Given the description of an element on the screen output the (x, y) to click on. 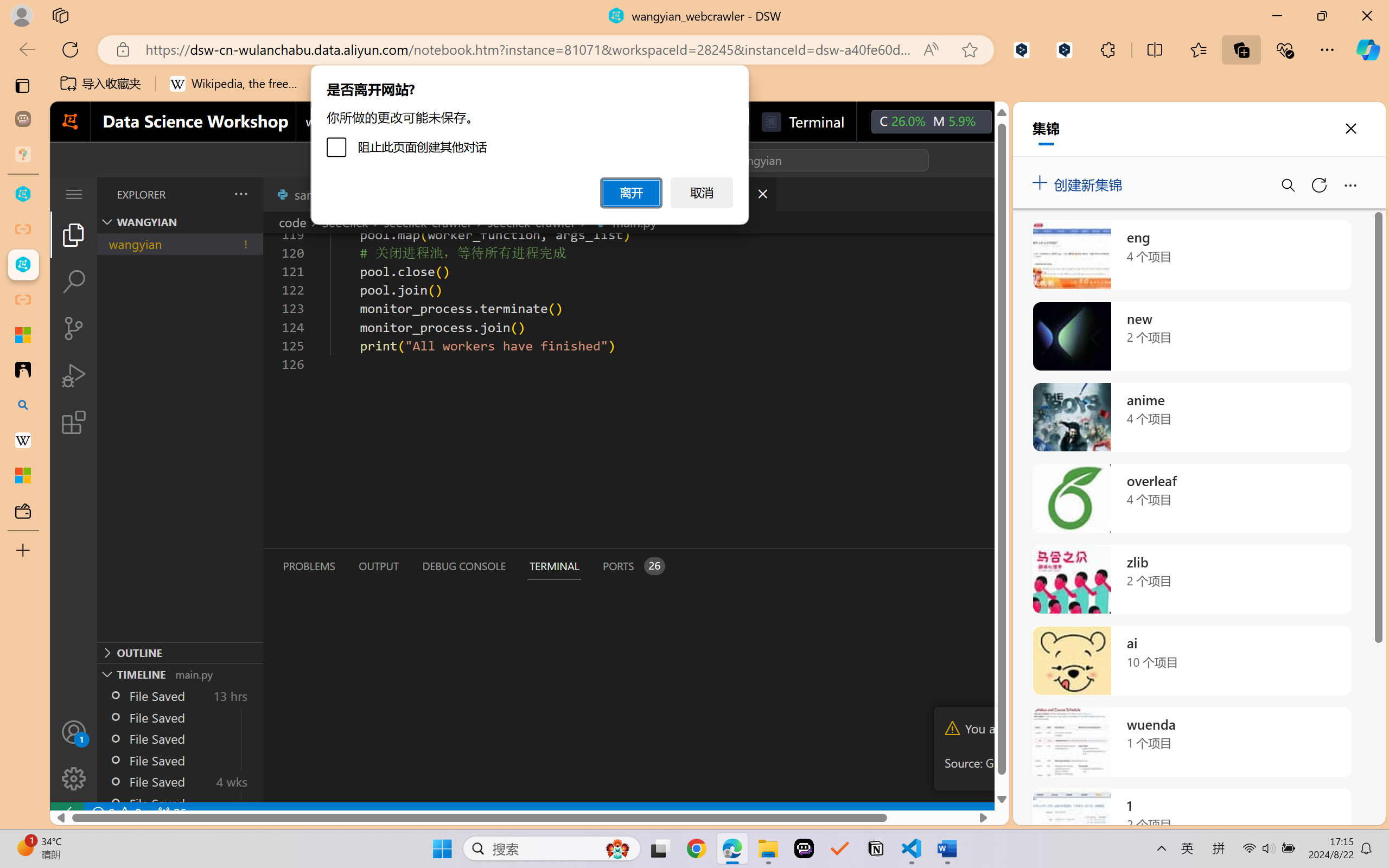
Explorer (Ctrl+Shift+E) (73, 234)
Source Control (Ctrl+Shift+G) (73, 328)
Run and Debug (Ctrl+Shift+D) (73, 375)
Views and More Actions... (240, 193)
Manage (73, 755)
